Given the description of an element on the screen output the (x, y) to click on. 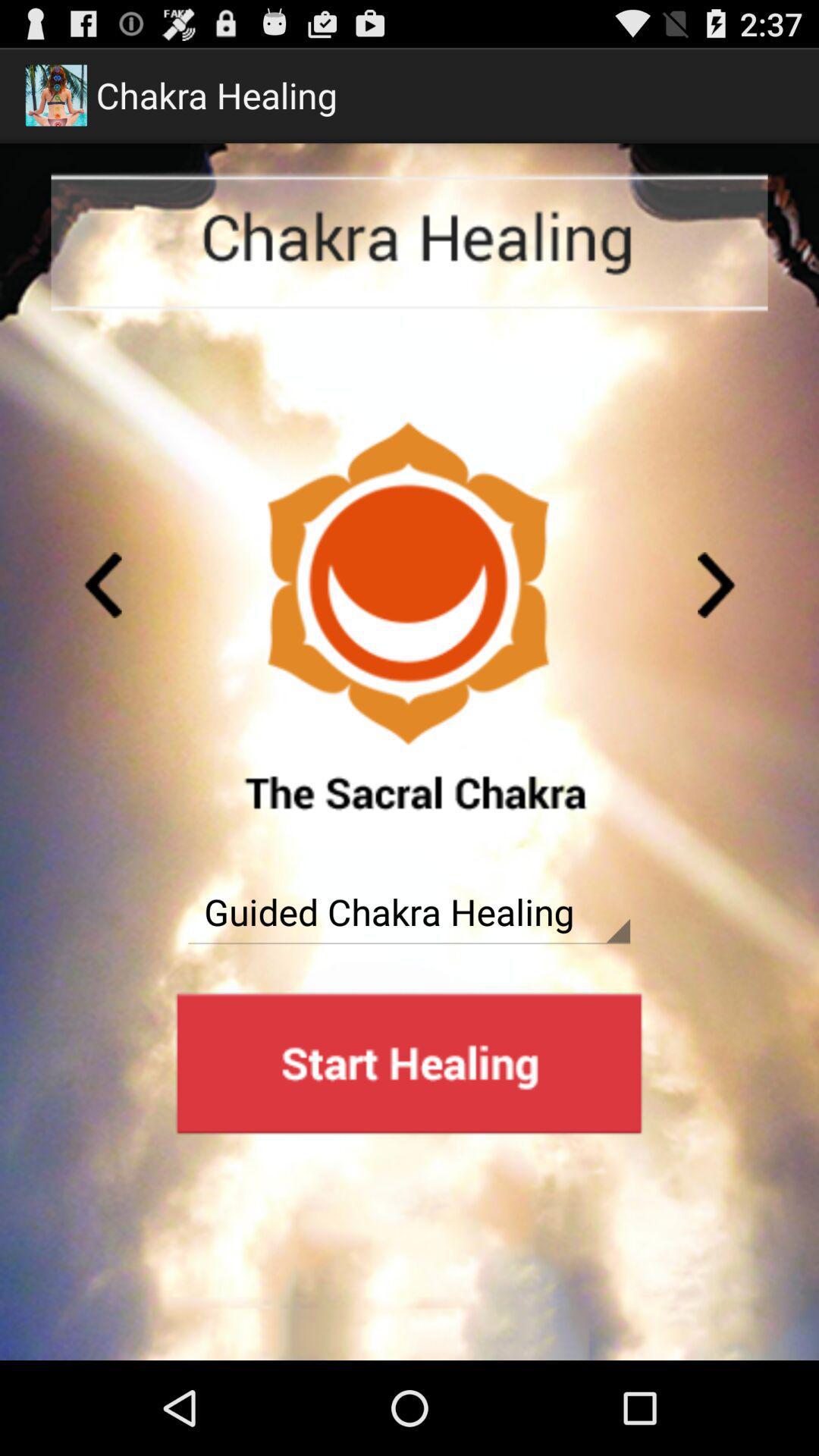
start button (409, 1063)
